Given the description of an element on the screen output the (x, y) to click on. 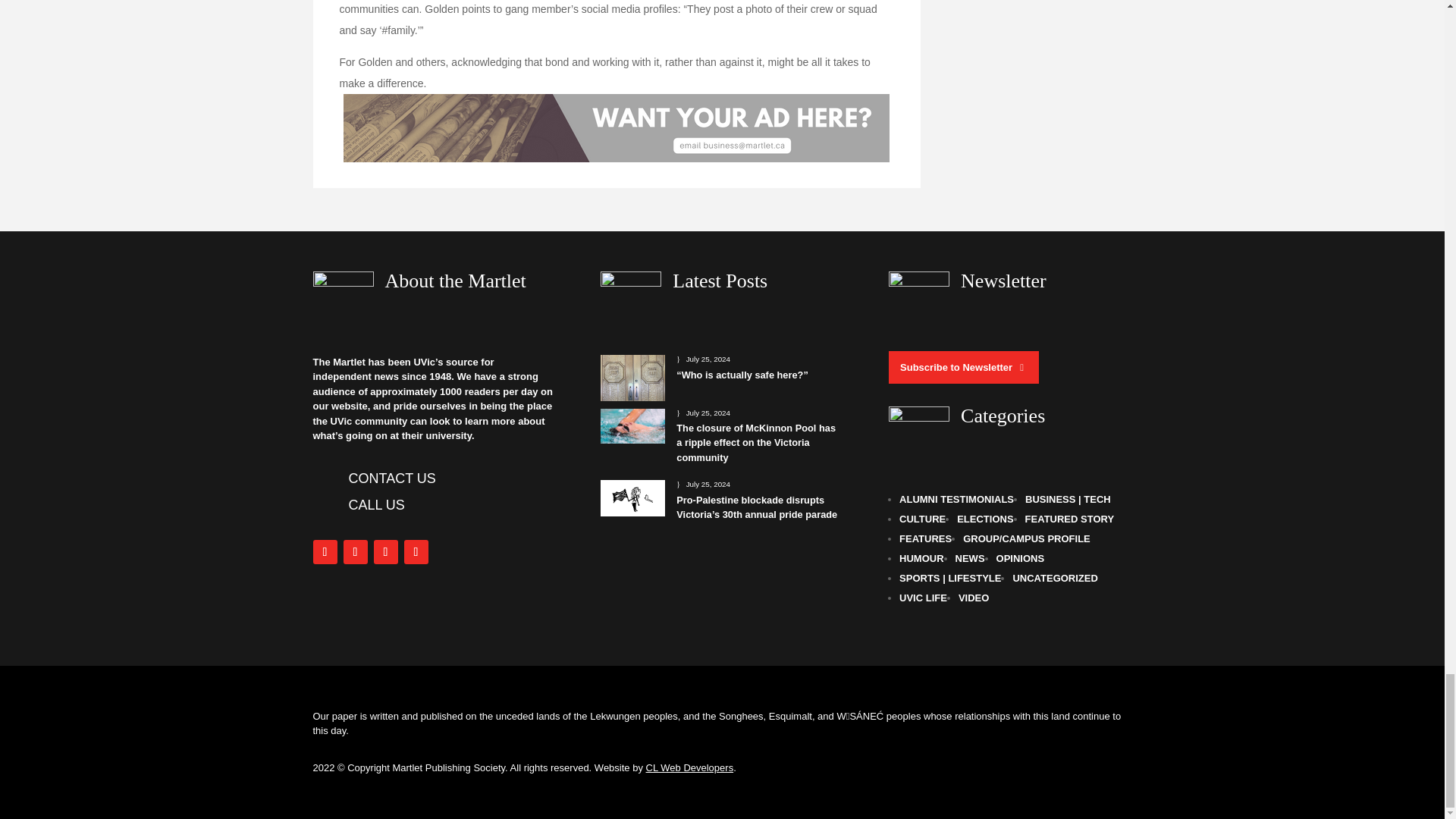
Follow on X (384, 551)
Follow on Facebook (324, 551)
Follow on TikTok (415, 551)
Follow on Instagram (354, 551)
